Given the description of an element on the screen output the (x, y) to click on. 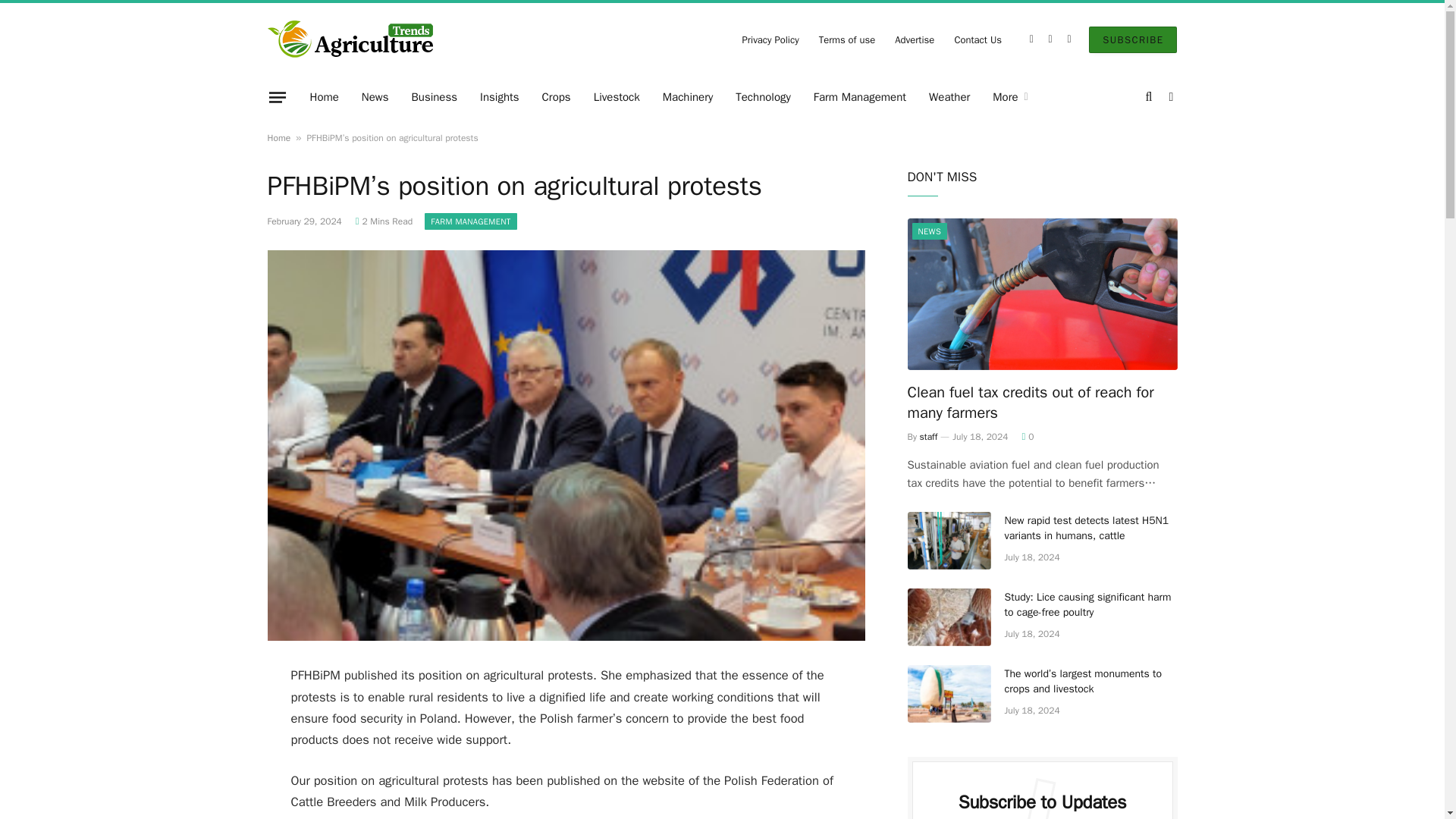
Terms of use (847, 39)
Home (324, 96)
Business (434, 96)
Switch to Dark Design - easier on eyes. (1168, 96)
Contact Us (977, 39)
News (375, 96)
Insights (499, 96)
Privacy Policy (770, 39)
Agriculture Trends (349, 39)
SUBSCRIBE (1132, 38)
